Given the description of an element on the screen output the (x, y) to click on. 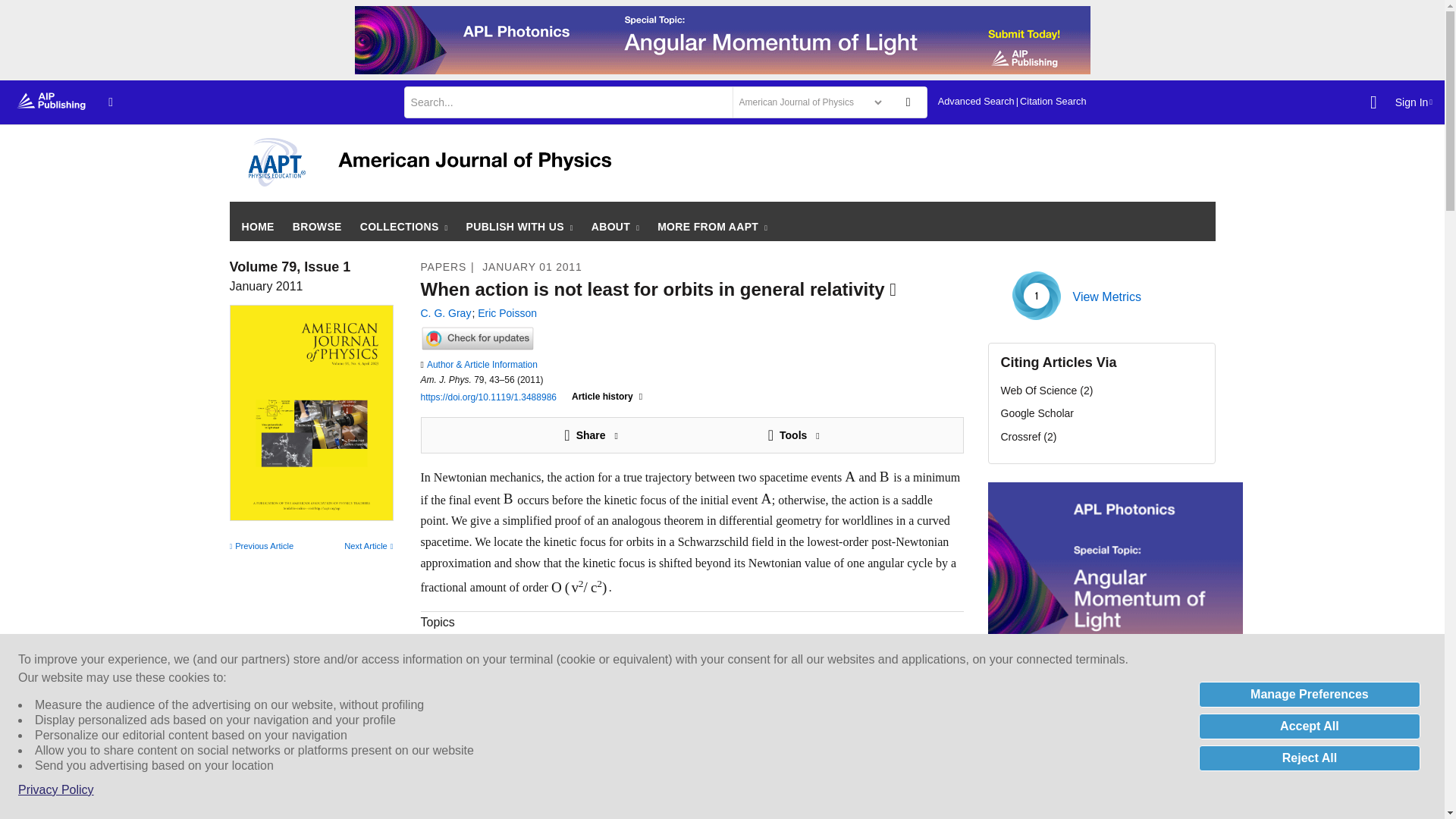
Sign In (1413, 102)
Reject All (1309, 758)
Privacy Policy (55, 789)
search input (566, 101)
Manage Preferences (1309, 694)
Citation Search (1053, 101)
Advanced Search (975, 101)
Accept All (1309, 726)
